Given the description of an element on the screen output the (x, y) to click on. 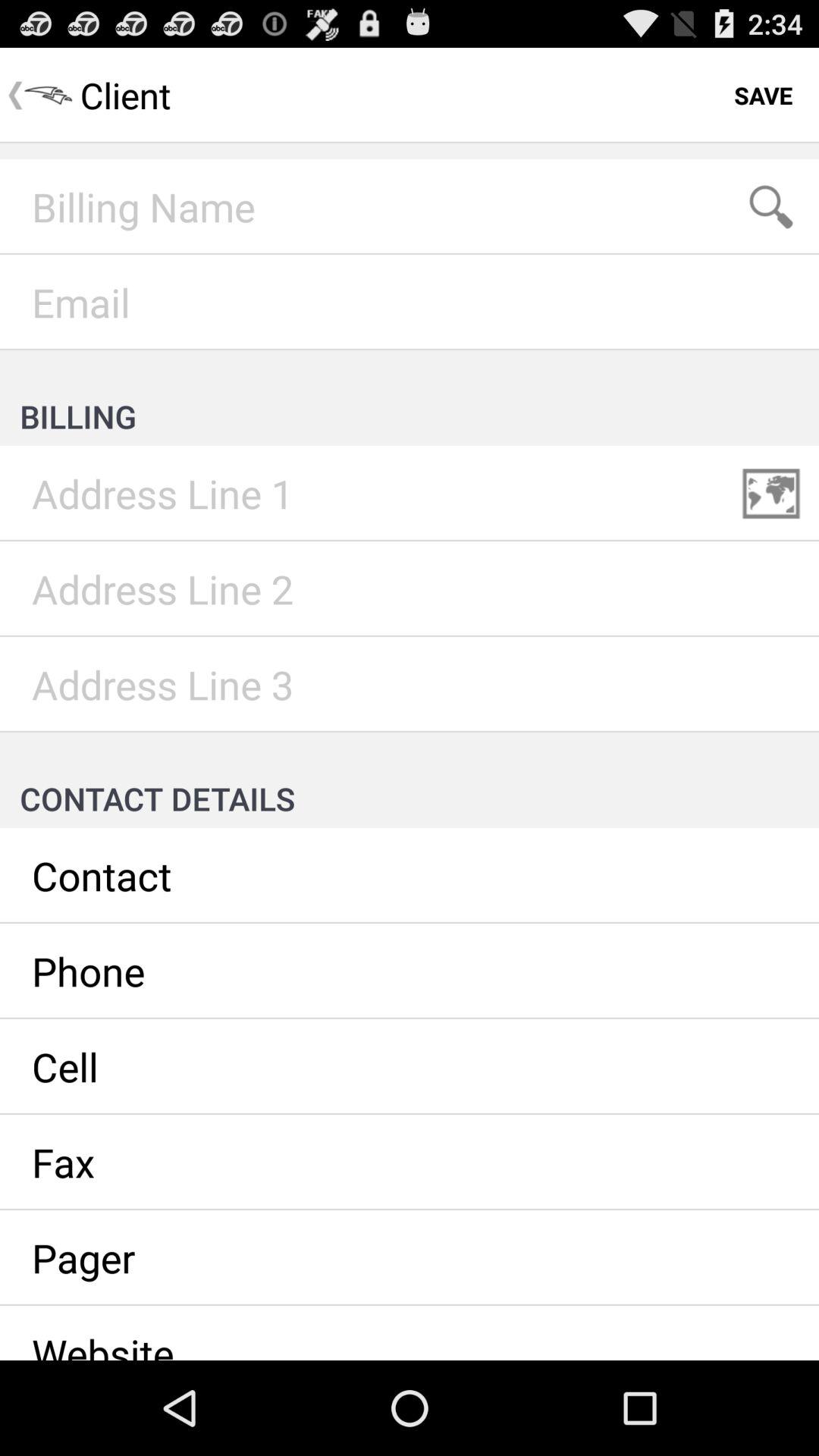
select in the map (771, 493)
